Given the description of an element on the screen output the (x, y) to click on. 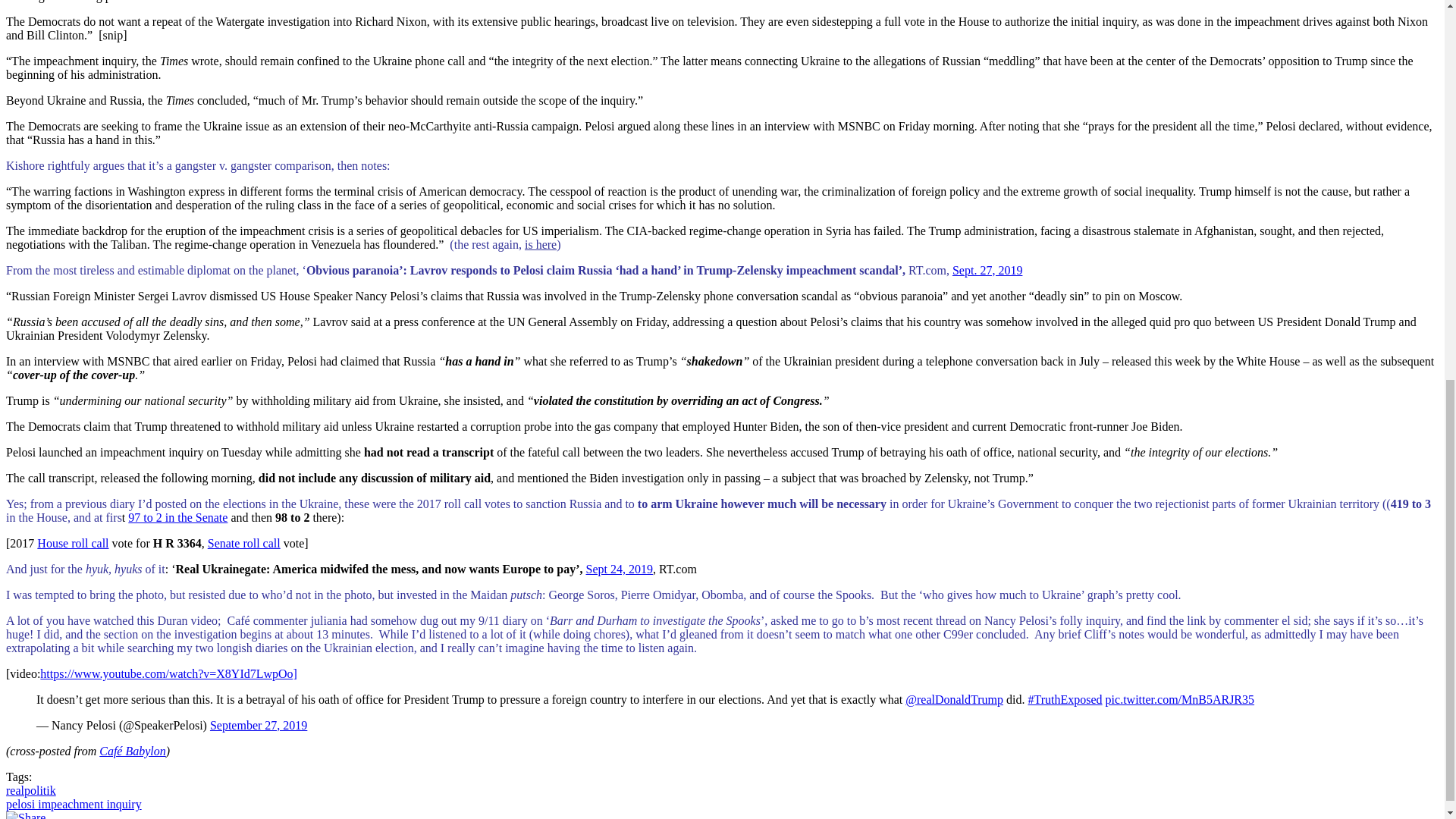
realpolitik (30, 789)
is here (540, 244)
pelosi impeachment inquiry (73, 803)
Sept 24, 2019 (619, 568)
97 to 2 in the Senate (177, 517)
Sept. 27, 2019 (987, 269)
September 27, 2019 (258, 725)
Senate roll call (244, 543)
House roll call (72, 543)
